Given the description of an element on the screen output the (x, y) to click on. 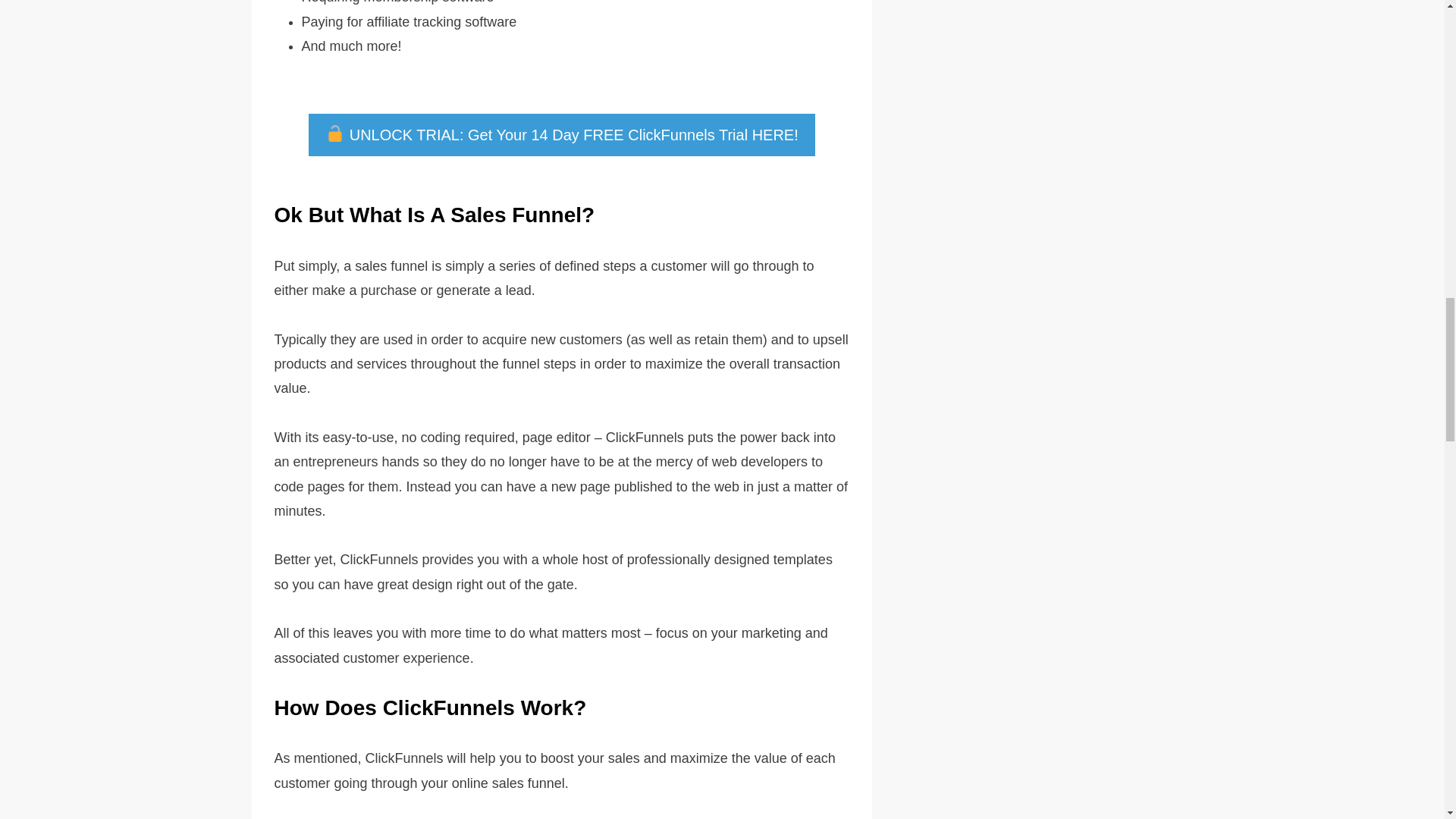
UNLOCK TRIAL: Get Your 14 Day FREE ClickFunnels Trial HERE! (560, 135)
